Given the description of an element on the screen output the (x, y) to click on. 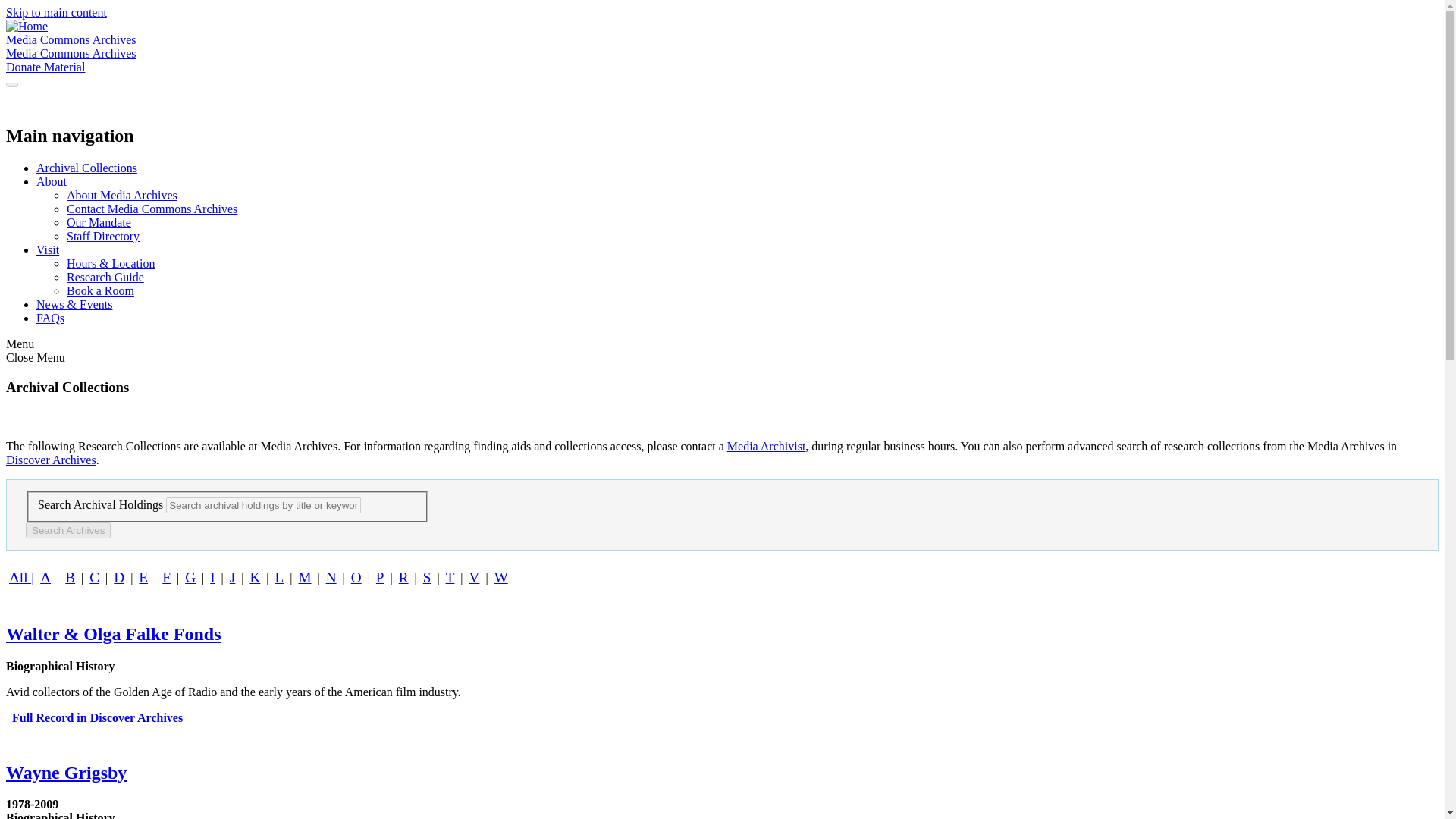
F (165, 577)
About Media Archives (121, 195)
C (93, 577)
Skip to main content (55, 11)
O (356, 577)
N (331, 577)
B (70, 577)
E (143, 577)
T (450, 577)
Research Guide (105, 277)
